Given the description of an element on the screen output the (x, y) to click on. 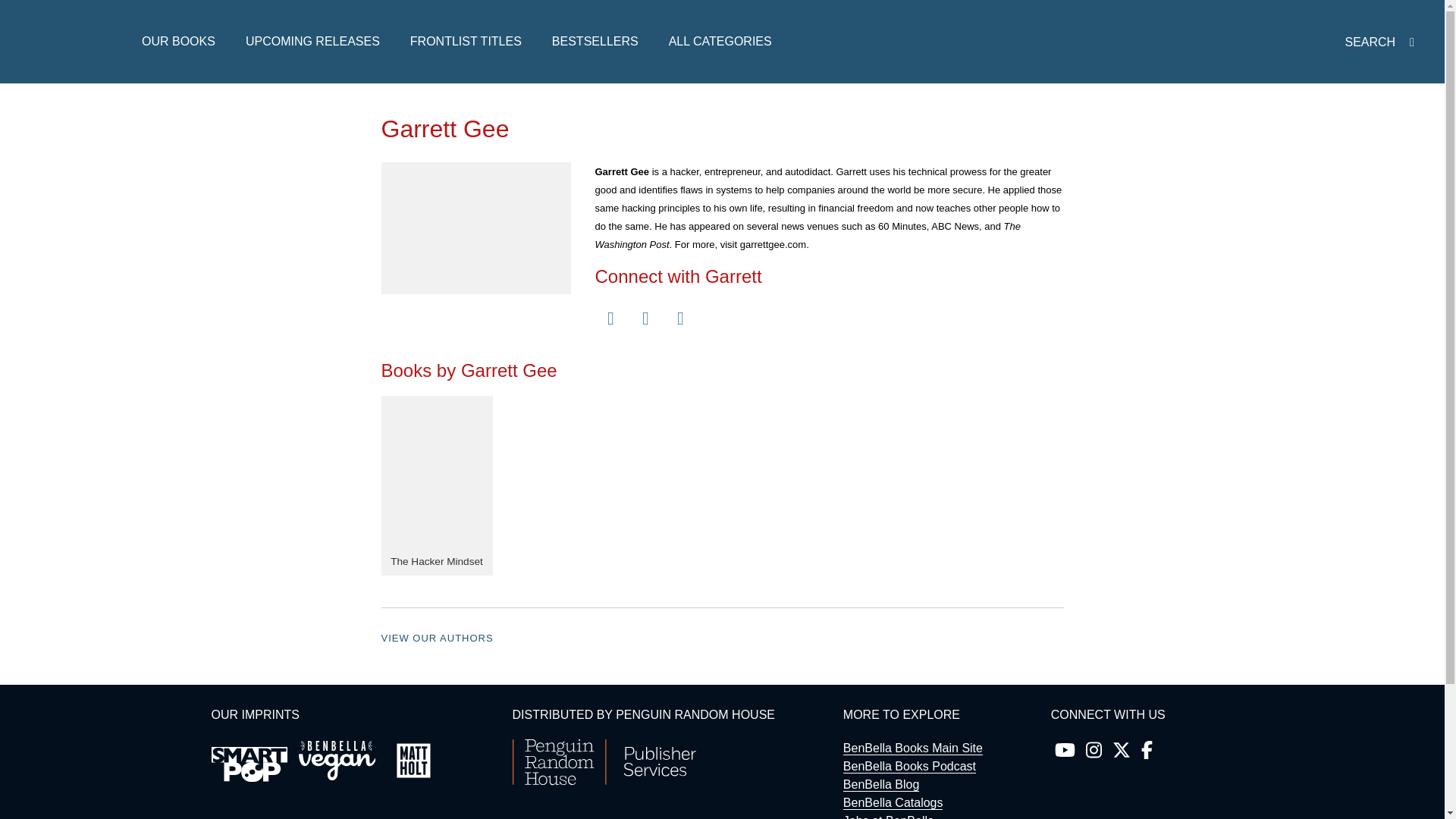
BESTSELLERS (595, 41)
Search (694, 133)
SmartPop Books (248, 764)
SEARCH (1382, 42)
Search (1147, 133)
ALL CATEGORIES (720, 41)
VIEW OUR AUTHORS (436, 637)
Penguin Random House (603, 780)
Search (1147, 329)
Matt Holt Books (413, 760)
